Given the description of an element on the screen output the (x, y) to click on. 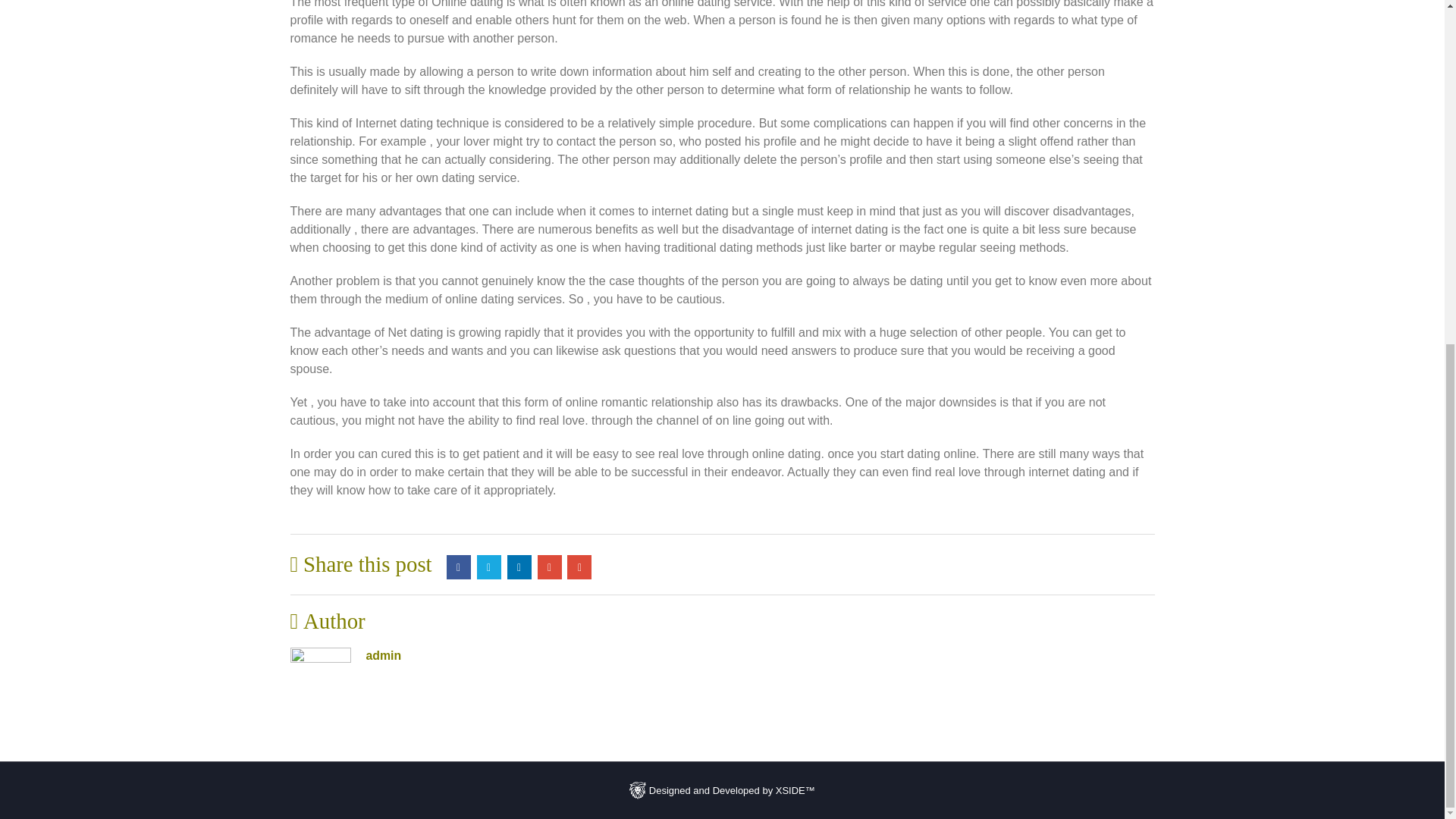
Email (579, 567)
LinkedIn (518, 567)
Email (579, 567)
admin (383, 655)
Twitter (488, 567)
Facebook (458, 567)
LinkedIn (518, 567)
Facebook (458, 567)
www.xside.ee (721, 789)
Twitter (488, 567)
www.xside.ee (637, 790)
